Given the description of an element on the screen output the (x, y) to click on. 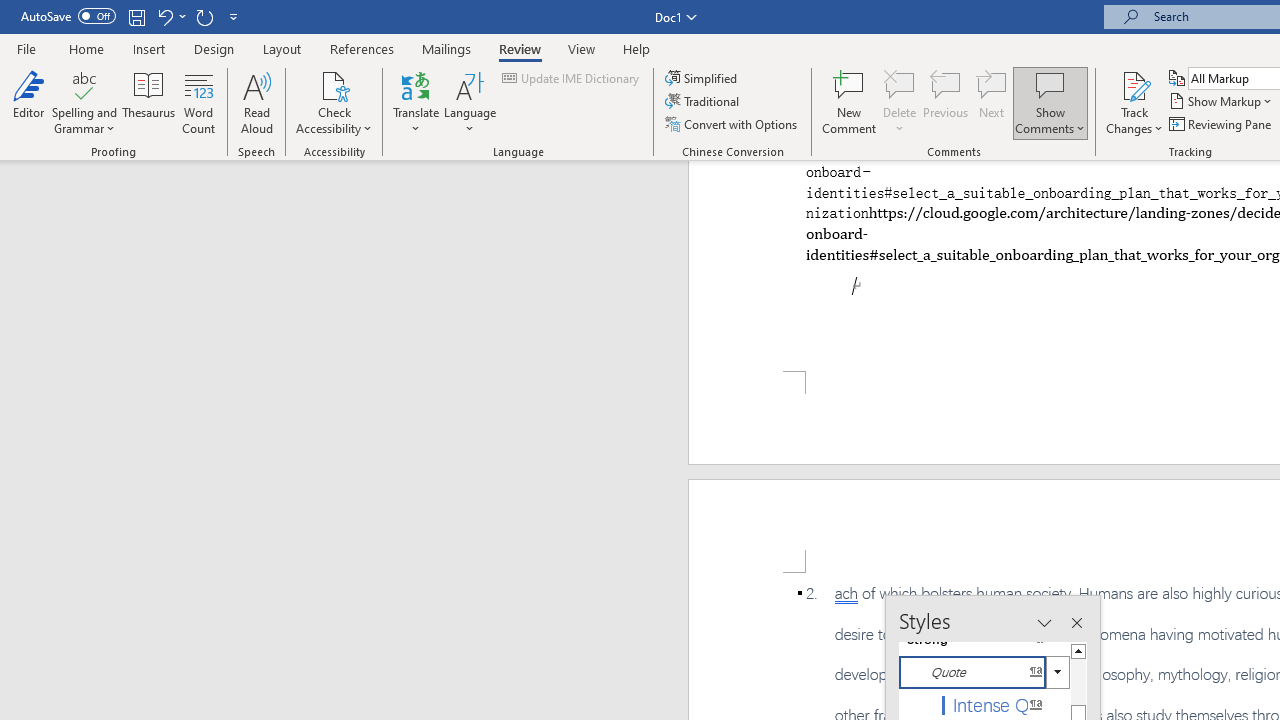
Simplified (702, 78)
Spelling and Grammar (84, 84)
Previous (946, 102)
New Comment (849, 102)
Strong (984, 638)
Track Changes (1134, 102)
Show Comments (1050, 102)
Next (991, 102)
Language (470, 102)
